Given the description of an element on the screen output the (x, y) to click on. 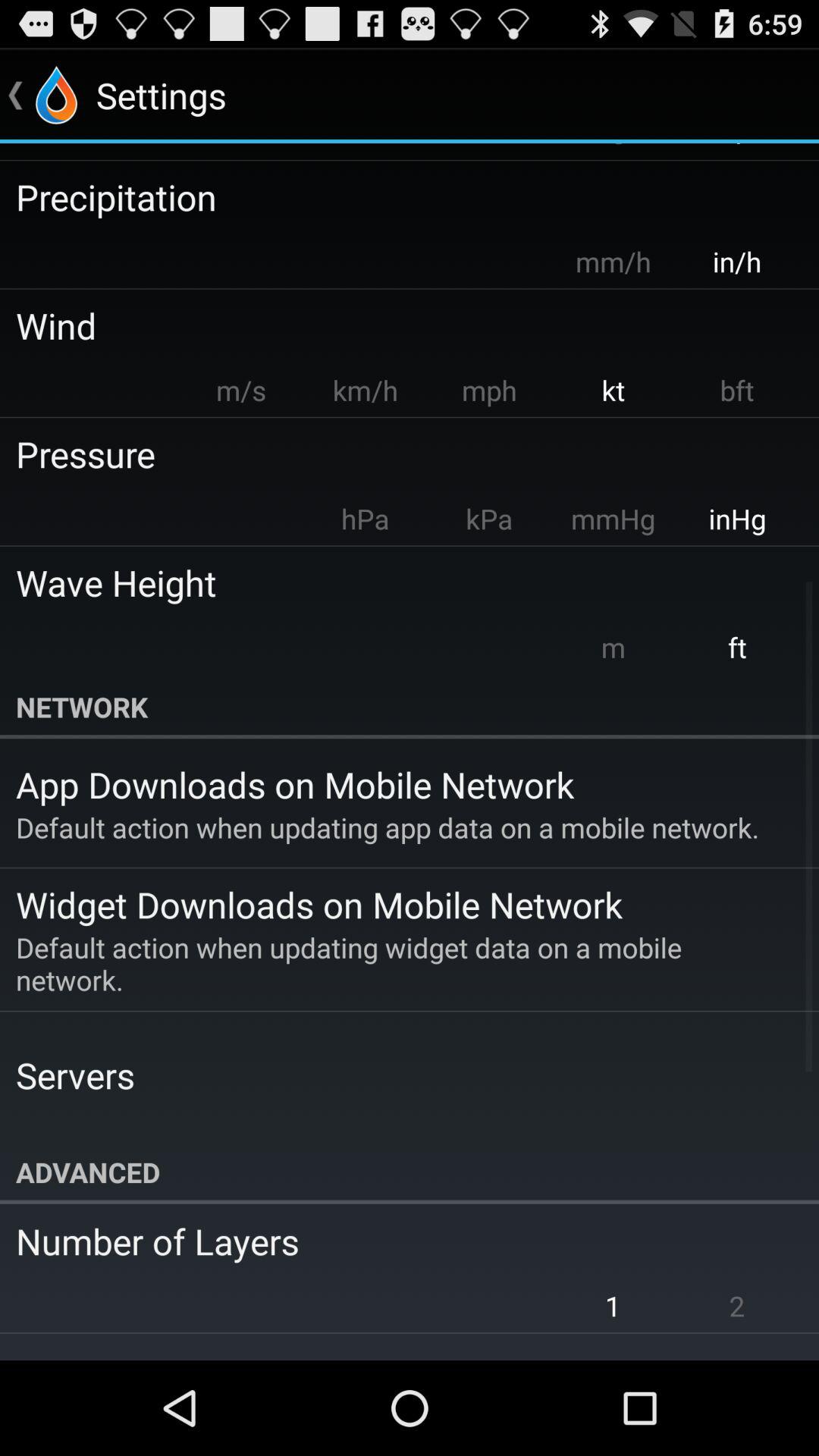
choose m/s (241, 389)
